Given the description of an element on the screen output the (x, y) to click on. 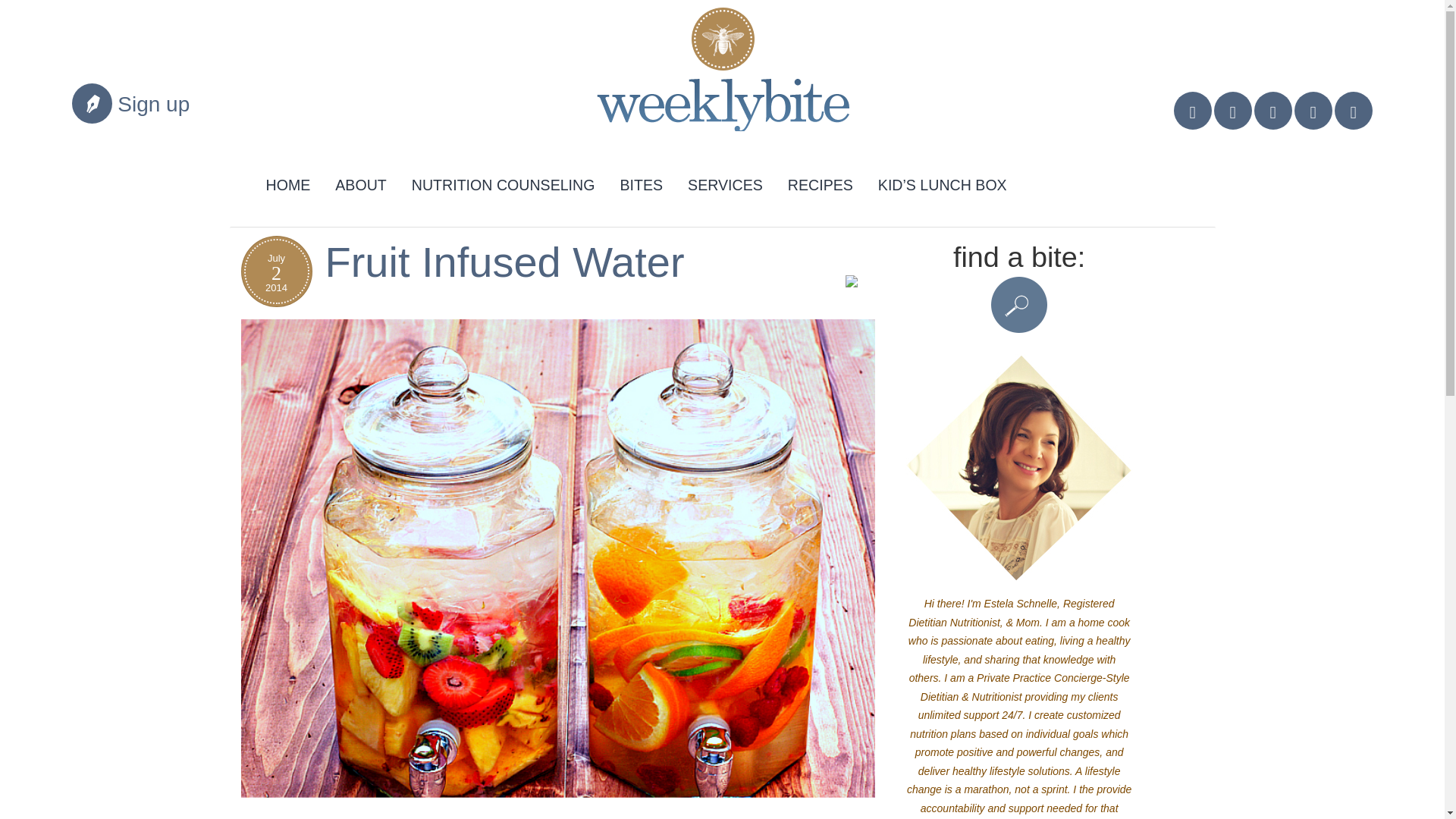
WeeklyBite (710, 76)
BITES (641, 181)
ABOUT (360, 181)
SERVICES (725, 181)
NUTRITION COUNSELING (503, 181)
Sign up (153, 104)
HOME (287, 181)
RECIPES (820, 181)
